Given the description of an element on the screen output the (x, y) to click on. 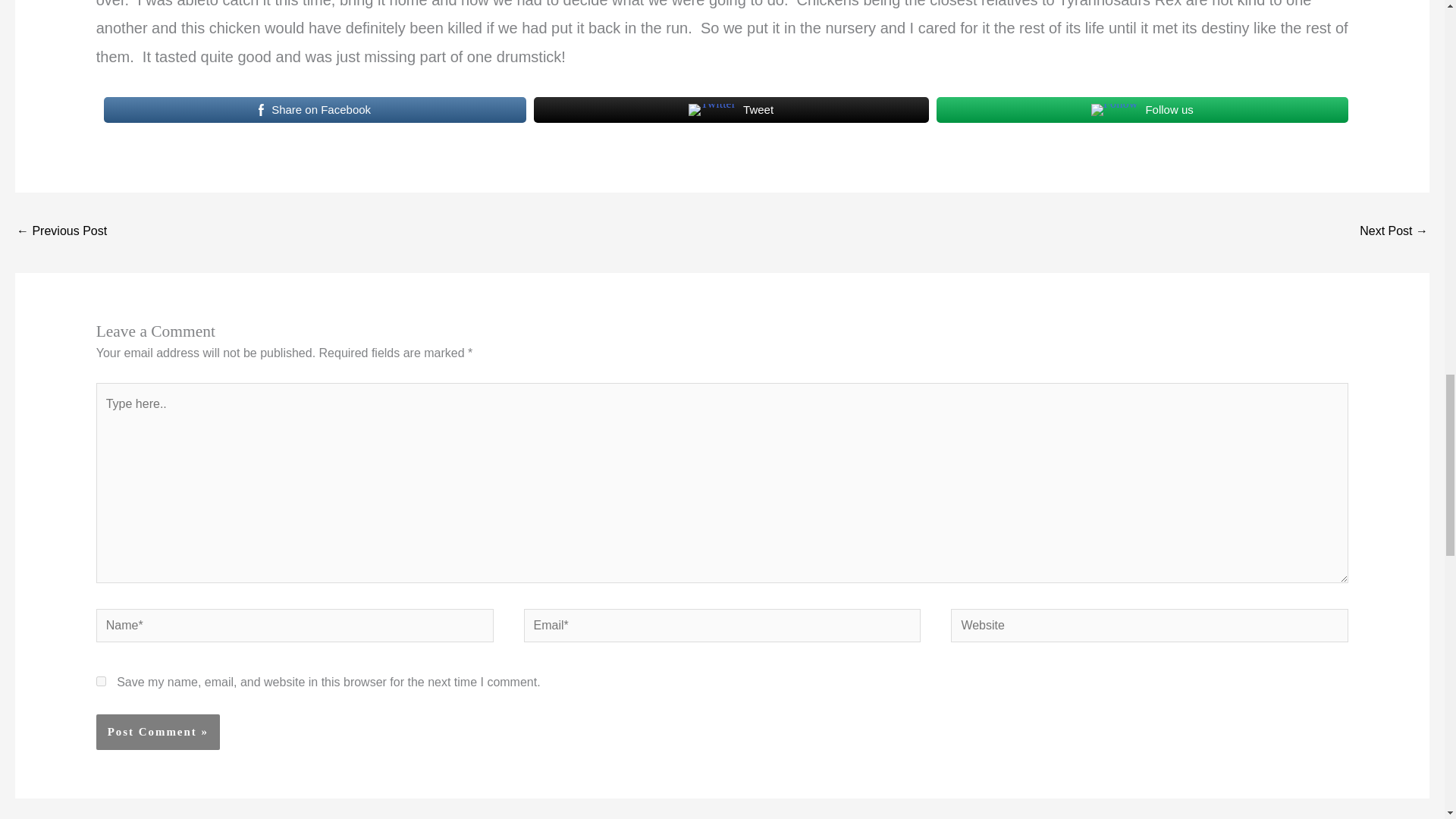
yes (101, 681)
Tweet (731, 109)
Follow us (1142, 109)
Old Yoda (1393, 232)
Share on Facebook (314, 109)
